Given the description of an element on the screen output the (x, y) to click on. 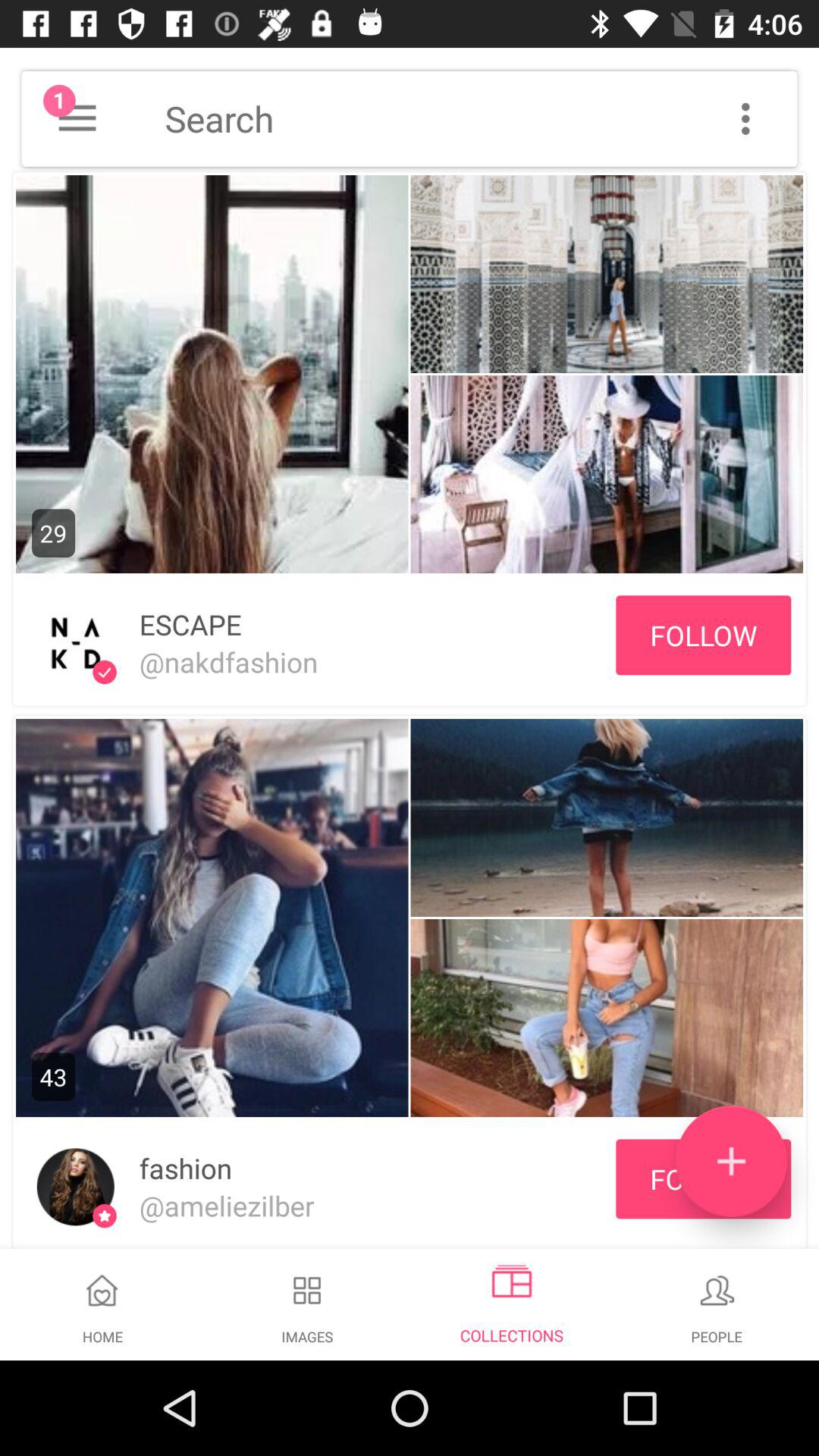
select menu option select section option (409, 1313)
